Given the description of an element on the screen output the (x, y) to click on. 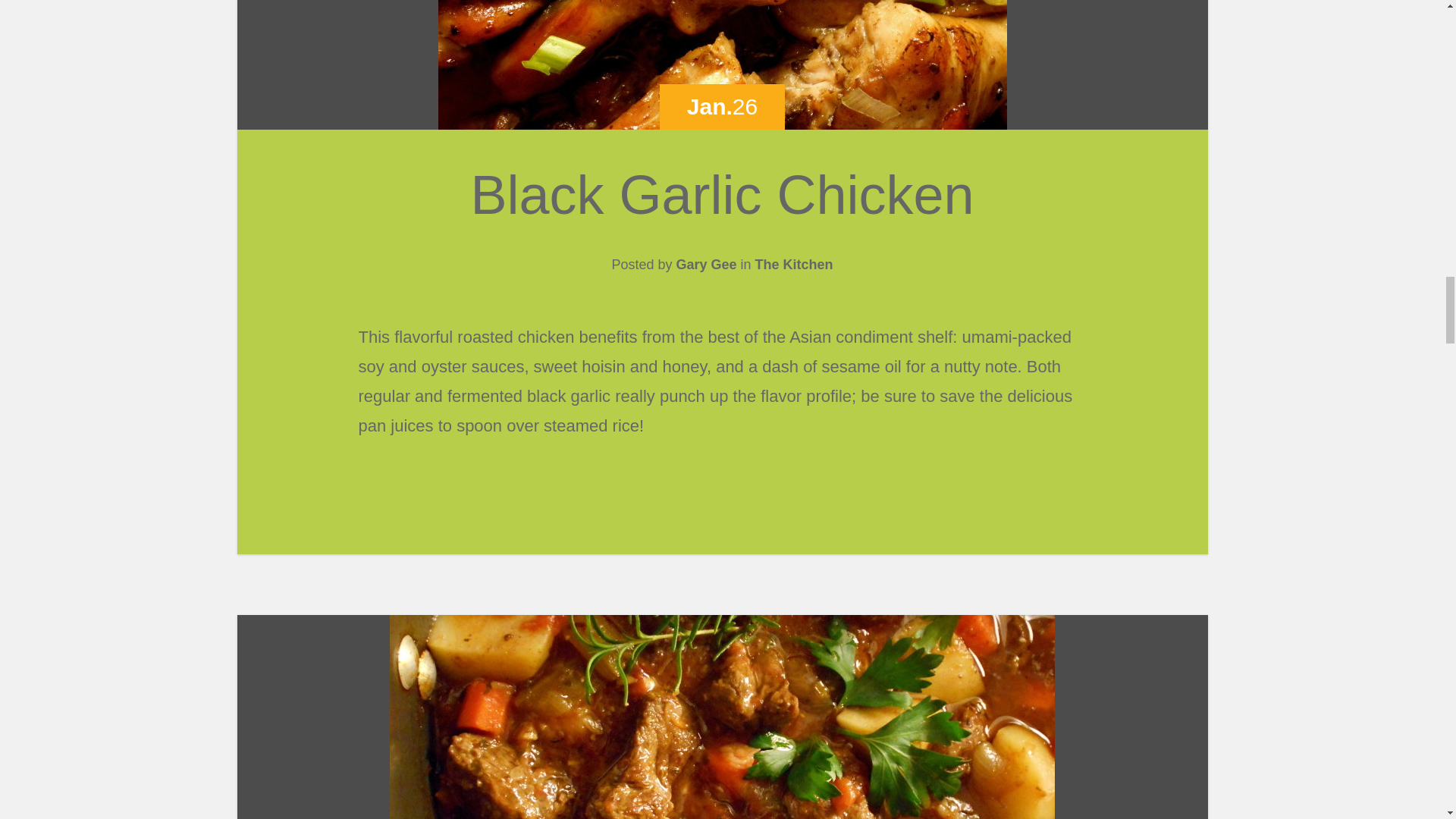
Posts by Gary Gee (705, 264)
Gary Gee (705, 264)
The Kitchen (793, 264)
Black Garlic Chicken (722, 194)
